Given the description of an element on the screen output the (x, y) to click on. 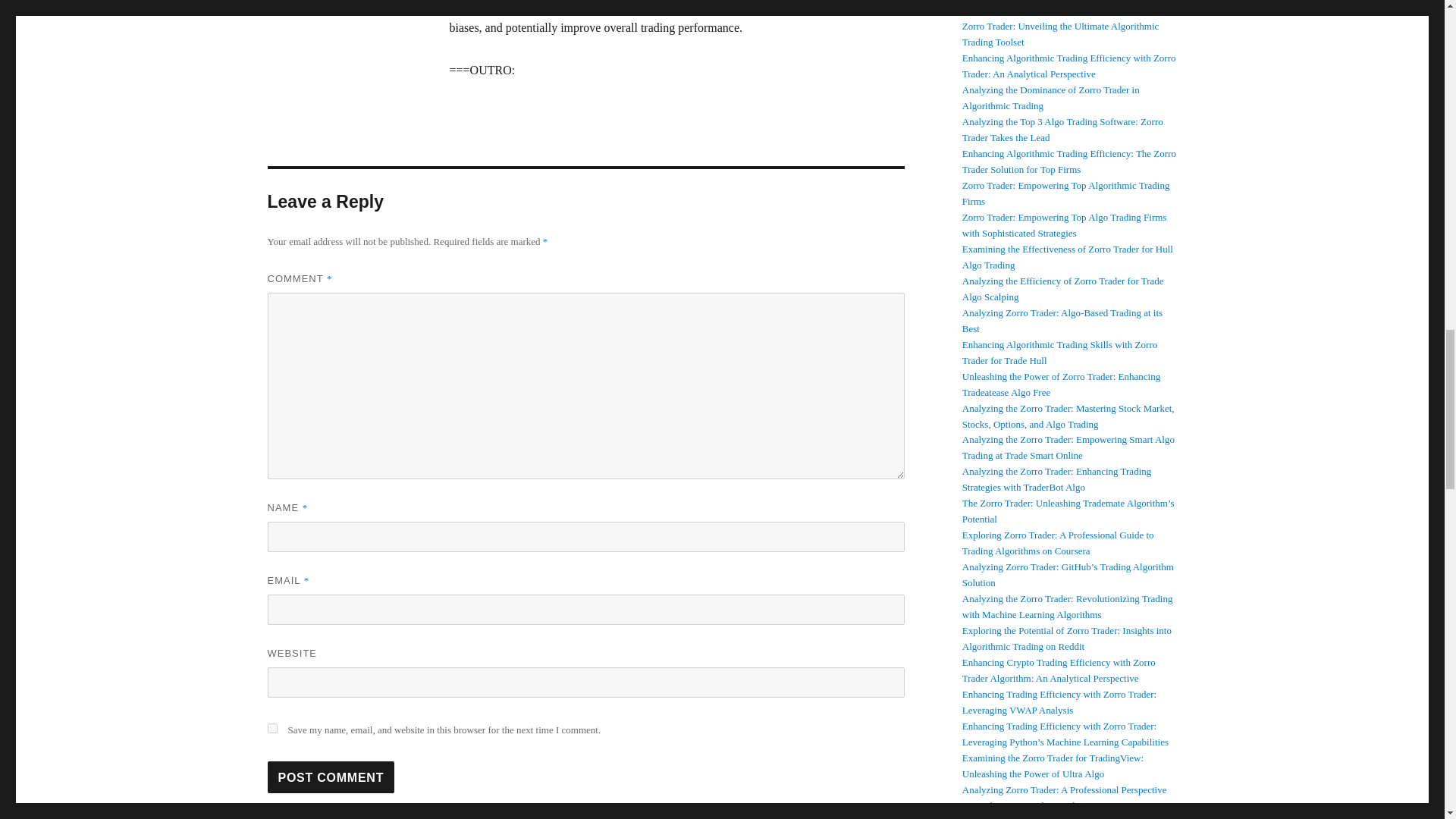
yes (271, 728)
Post Comment (330, 777)
Post Comment (330, 777)
